Given the description of an element on the screen output the (x, y) to click on. 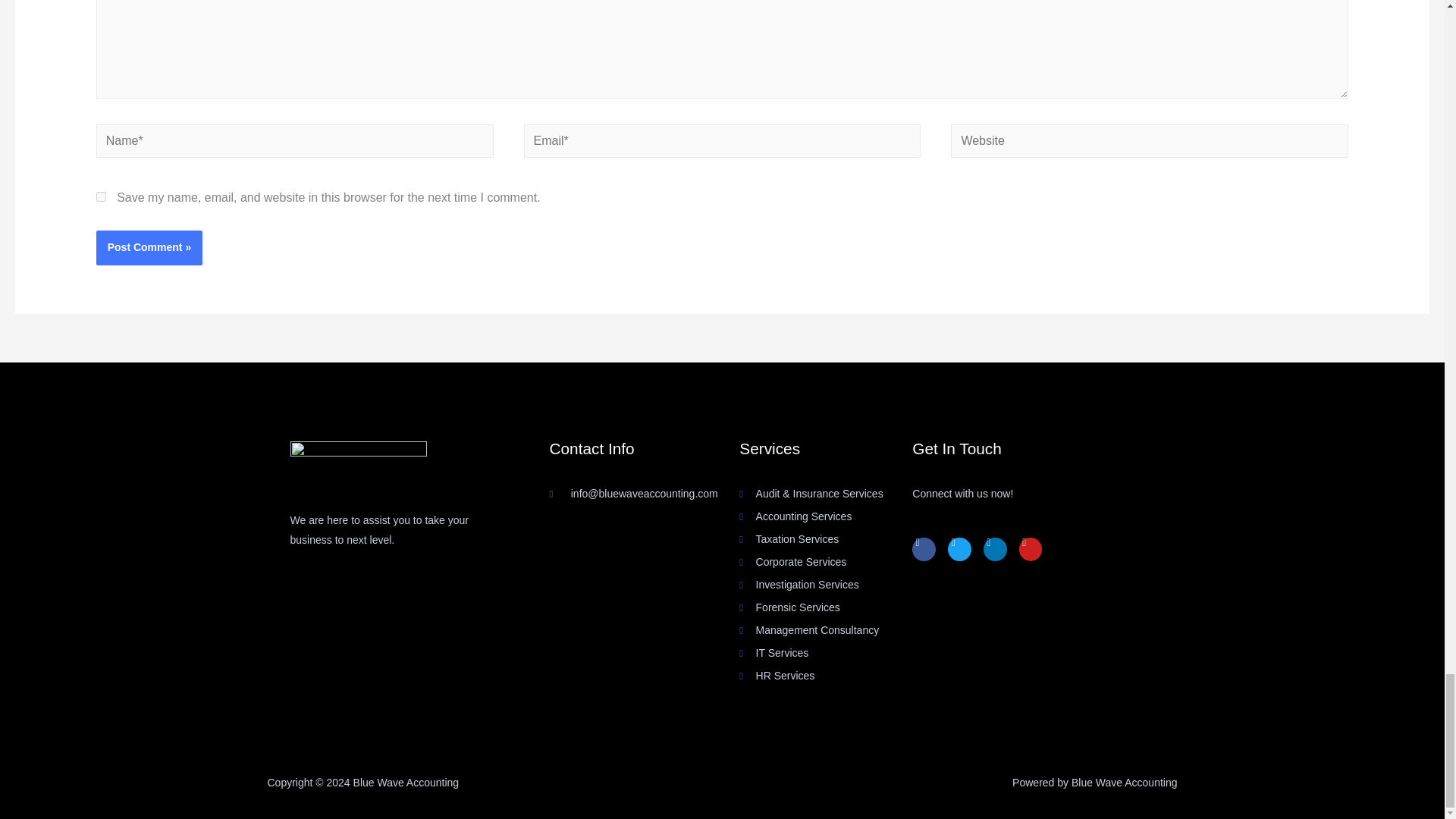
Forensic Services (825, 608)
Accounting Services (825, 516)
yes (101, 196)
Management Consultancy (825, 630)
Corporate Services (825, 562)
Investigation Services (825, 585)
Taxation Services (825, 539)
